Given the description of an element on the screen output the (x, y) to click on. 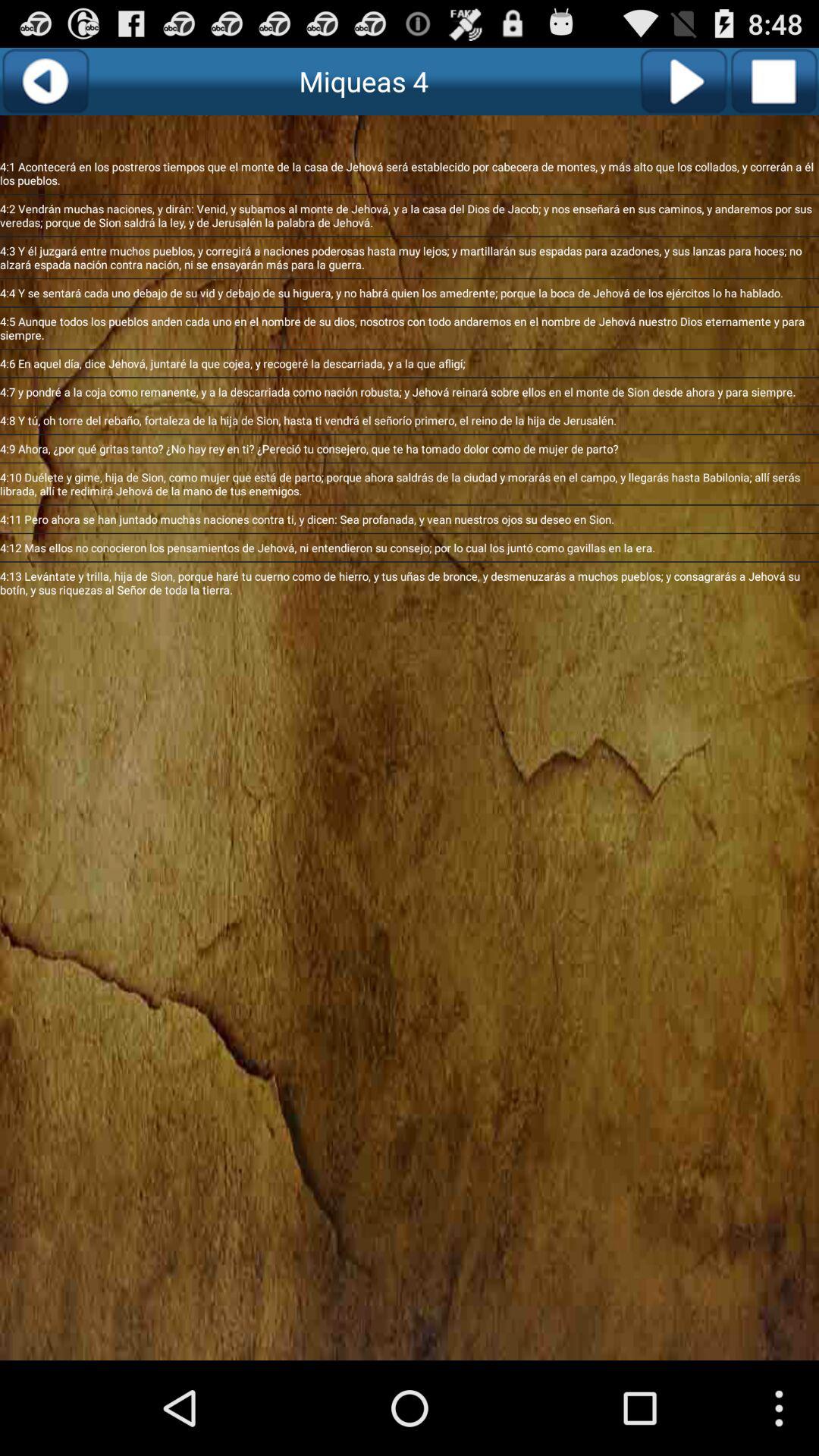
press the app next to miqueas 4 item (45, 81)
